Given the description of an element on the screen output the (x, y) to click on. 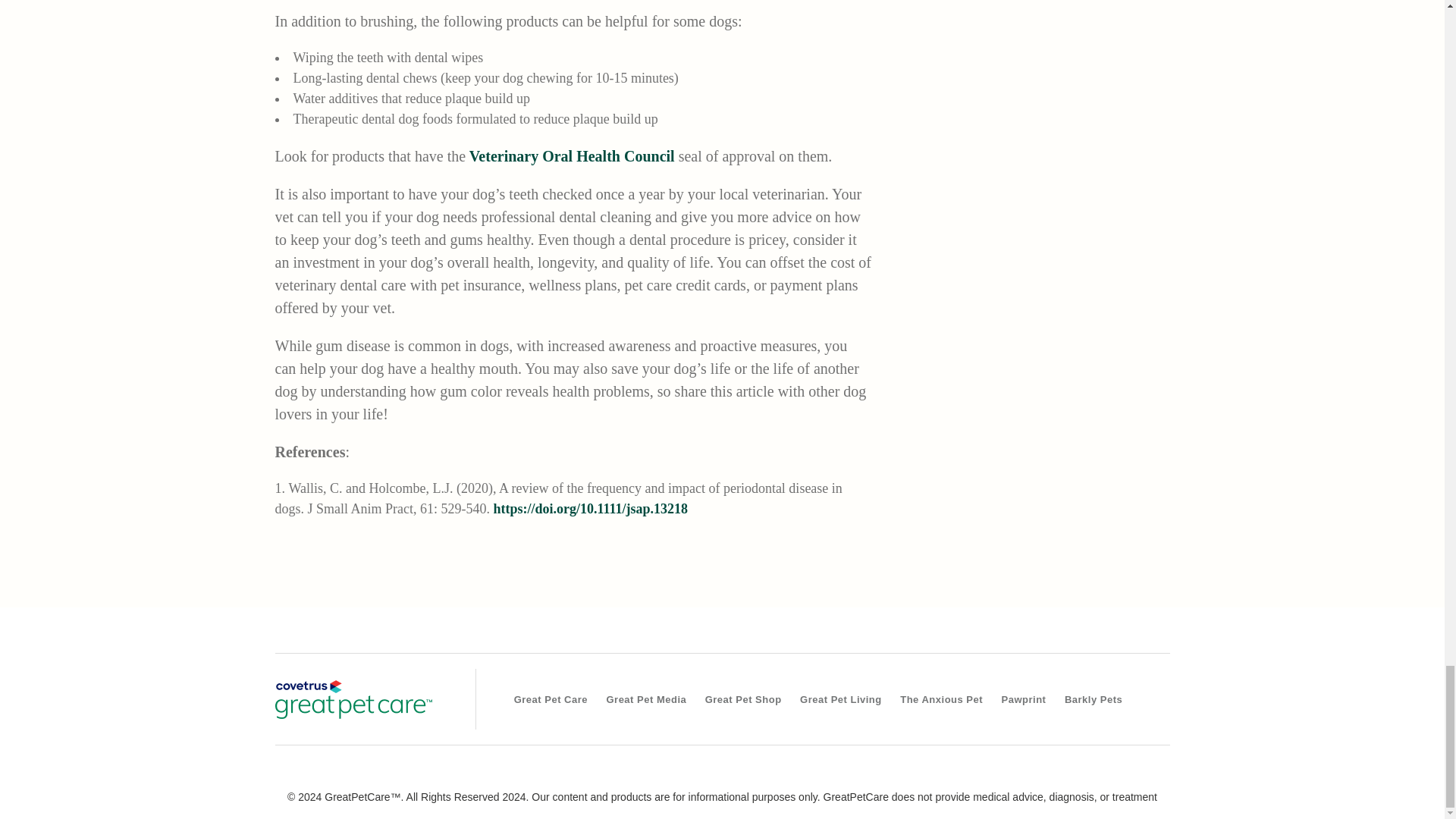
The Anxious Pet (941, 699)
Veterinary Oral Health Council (571, 156)
Great Pet Media (646, 699)
Great Pet Media (646, 699)
Great Pet Care (352, 699)
The Anxious Pet (941, 699)
Great Pet Living (840, 699)
Great Pet Living (840, 699)
Great Pet Care (550, 699)
Pawprint (1024, 699)
Great Pet Shop (743, 699)
Great Pet Shop (743, 699)
Barkly Pets (1093, 699)
Pawprint (1024, 699)
Great Pet Care (550, 699)
